Given the description of an element on the screen output the (x, y) to click on. 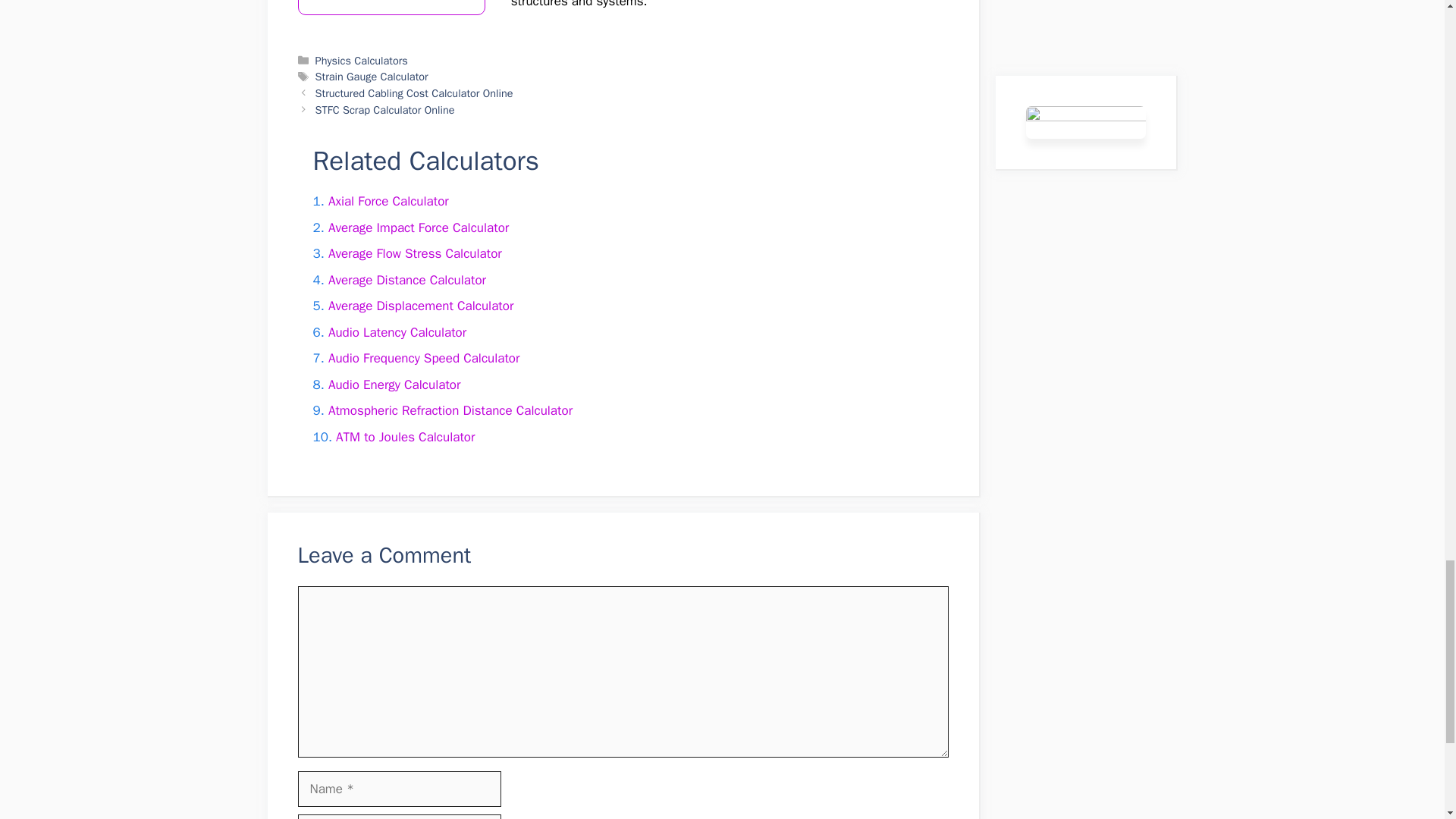
ATM to Joules Calculator (405, 437)
Structured Cabling Cost Calculator Online (414, 92)
STFC Scrap Calculator Online (384, 110)
Axial Force Calculator (388, 201)
Strain Gauge Calculator (371, 76)
Atmospheric Refraction Distance Calculator (450, 410)
Average Distance Calculator (407, 279)
Audio Frequency Speed Calculator (424, 358)
Average Displacement Calculator (421, 305)
Average Impact Force Calculator (418, 227)
Physics Calculators (361, 60)
Audio Energy Calculator (395, 384)
Average Flow Stress Calculator (415, 253)
Audio Latency Calculator (397, 332)
